Given the description of an element on the screen output the (x, y) to click on. 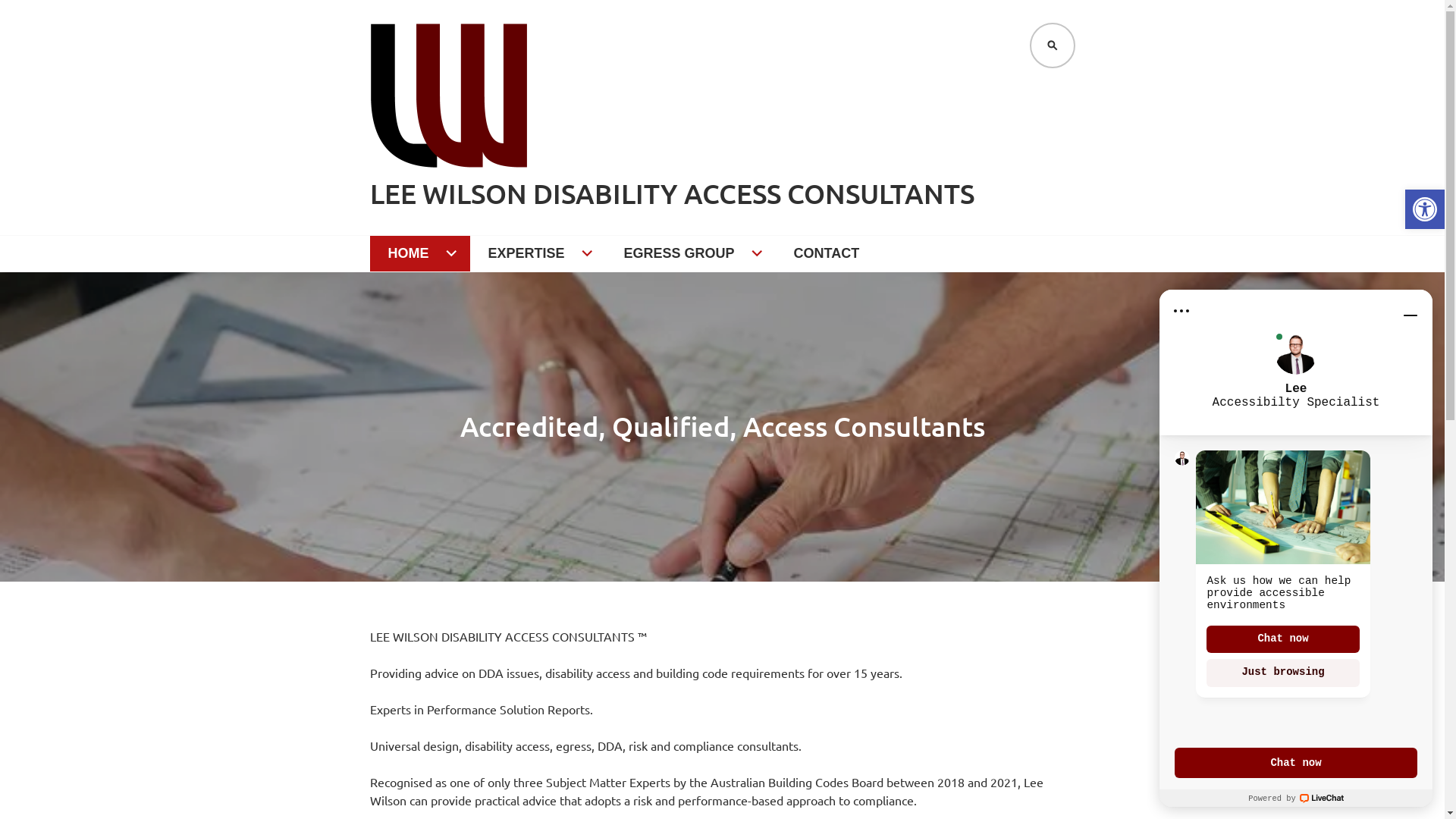
CONTACT Element type: text (826, 253)
Open toolbar
Accessibility Tools Element type: text (1424, 209)
HOME Element type: text (420, 253)
SEARCH Element type: text (1052, 45)
EGRESS GROUP Element type: text (690, 253)
LEE WILSON DISABILITY ACCESS CONSULTANTS Element type: text (672, 193)
EXPERTISE Element type: text (537, 253)
